Given the description of an element on the screen output the (x, y) to click on. 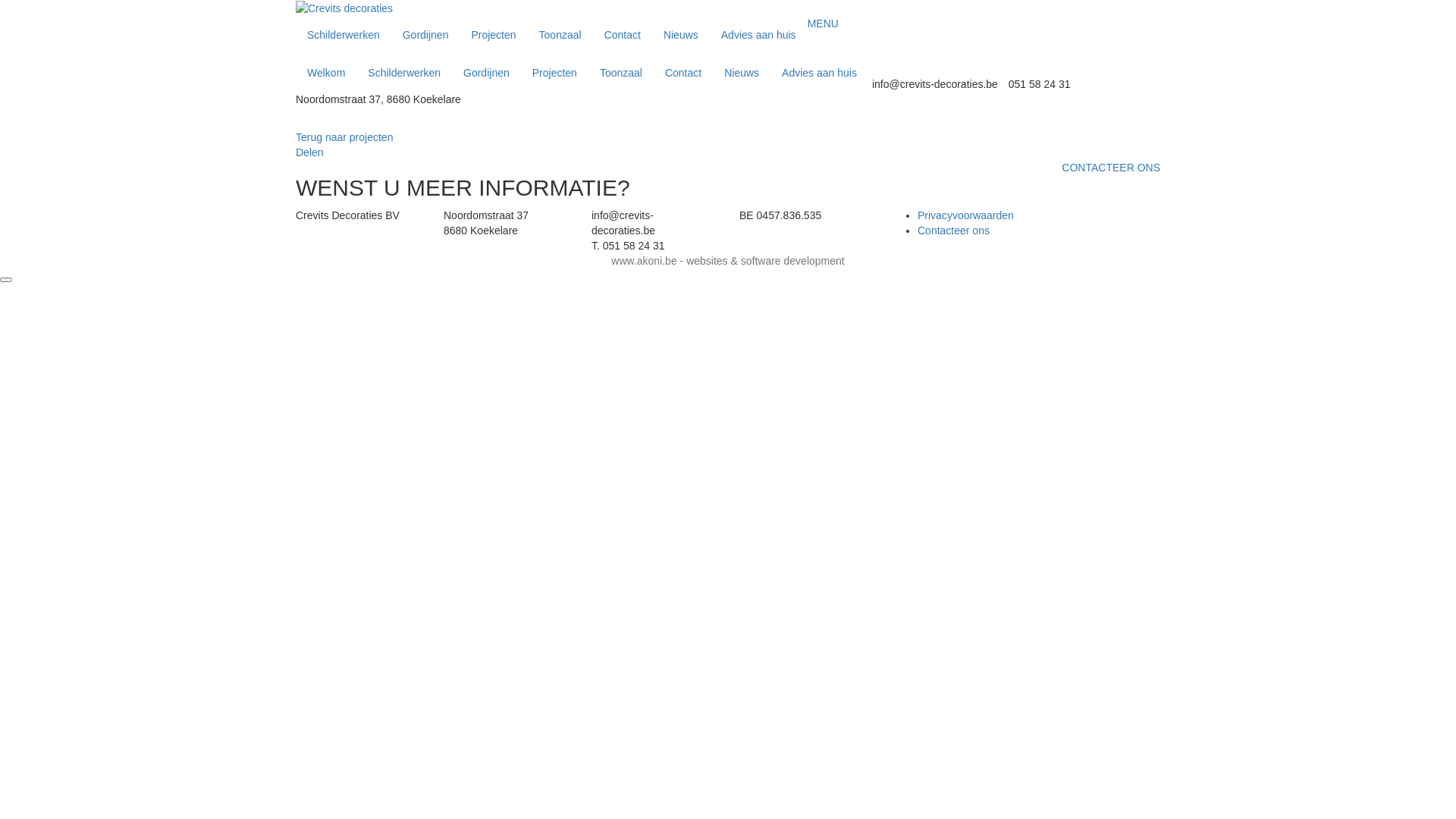
Delen Element type: text (309, 152)
Projecten Element type: text (493, 34)
Contact Element type: text (682, 72)
Welkom Element type: text (325, 72)
Privacyvoorwaarden Element type: text (965, 215)
Toonzaal Element type: text (560, 34)
Nieuws Element type: text (741, 72)
Terug naar projecten Element type: text (343, 137)
Advies aan huis Element type: text (819, 72)
www.akoni.be - websites & software development Element type: text (727, 260)
Gordijnen Element type: text (485, 72)
Schilderwerken Element type: text (403, 72)
Gordijnen Element type: text (425, 34)
MENU Element type: text (822, 23)
Projecten Element type: text (554, 72)
Contact Element type: text (622, 34)
Contacteer ons Element type: text (953, 230)
Schilderwerken Element type: text (343, 34)
CONTACTEER ONS Element type: text (1110, 167)
Advies aan huis Element type: text (758, 34)
Toonzaal Element type: text (620, 72)
Nieuws Element type: text (680, 34)
